Given the description of an element on the screen output the (x, y) to click on. 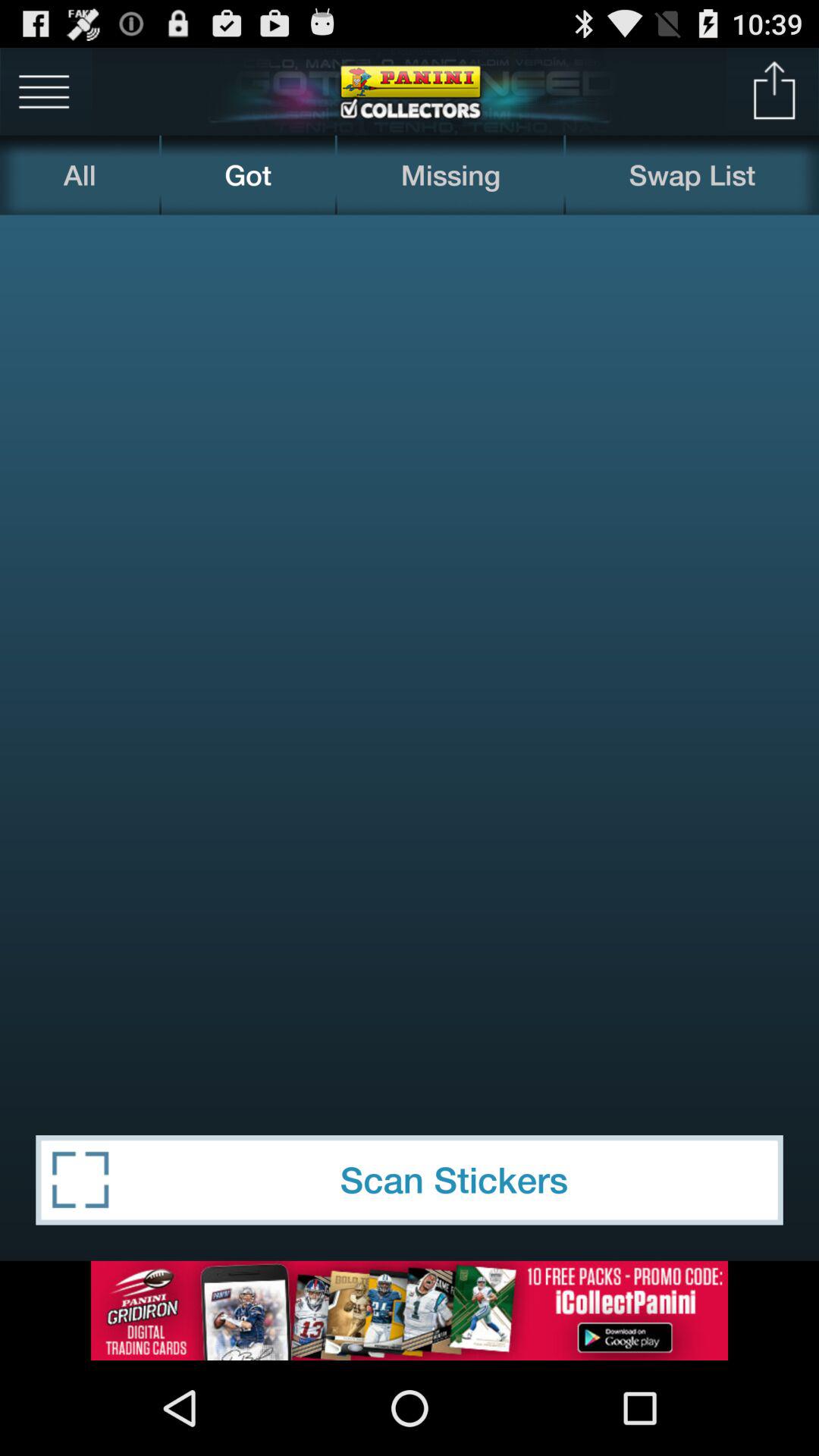
launch icon below all (409, 656)
